Given the description of an element on the screen output the (x, y) to click on. 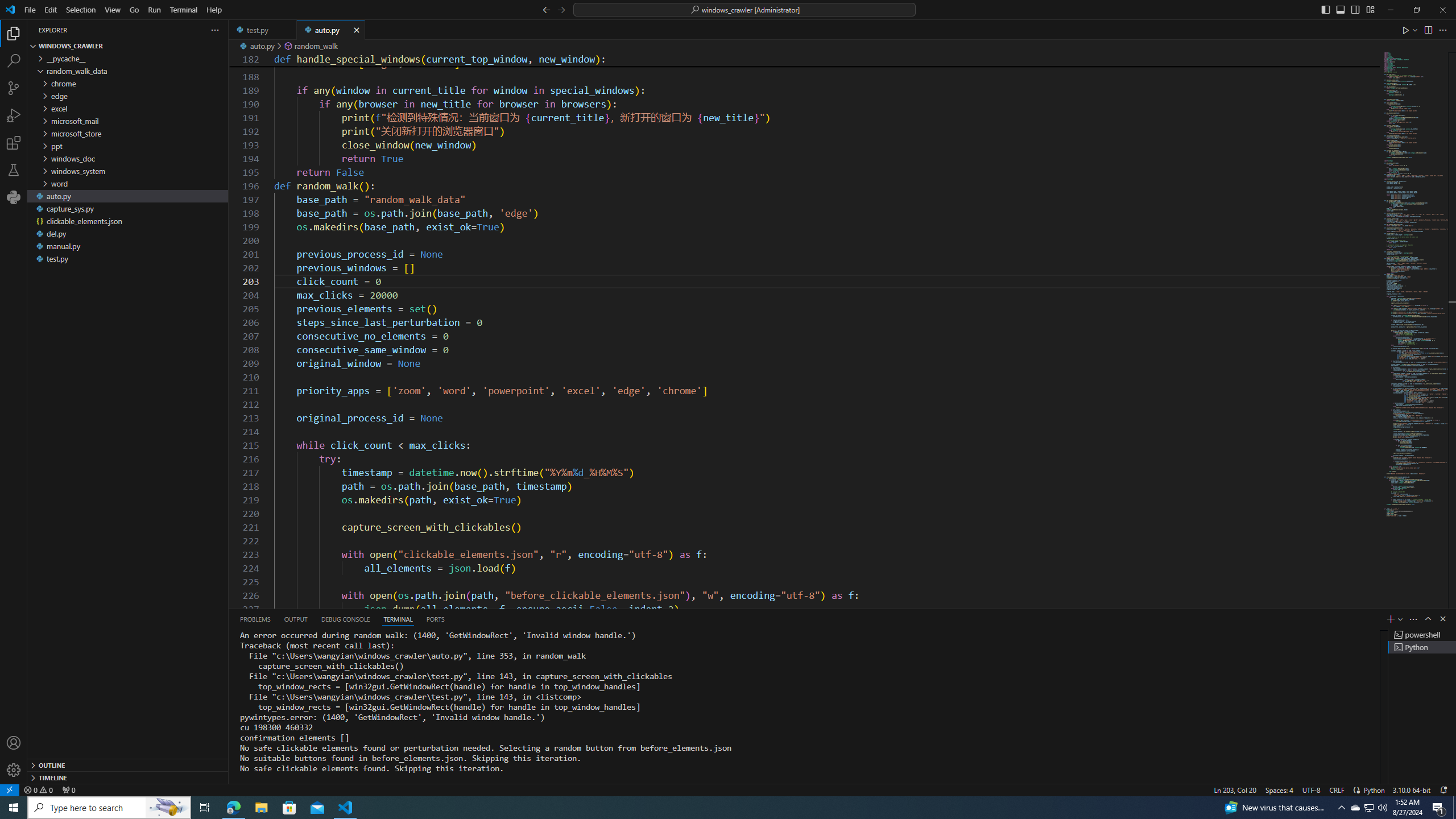
Launch Profile... (1400, 618)
View (112, 9)
Run or Debug... (1414, 29)
Customize Layout... (1369, 9)
Terminal 1 powershell (1422, 634)
Hide Panel (1442, 618)
test.py (262, 29)
Explorer actions (146, 29)
Editor actions (1425, 29)
UTF-8 (1310, 789)
Split Editor Right (Ctrl+\) [Alt] Split Editor Down (1428, 29)
Close (Ctrl+F4) (356, 29)
Explorer Section: windows_crawler (127, 46)
Explorer (Ctrl+Shift+E) (13, 33)
